Given the description of an element on the screen output the (x, y) to click on. 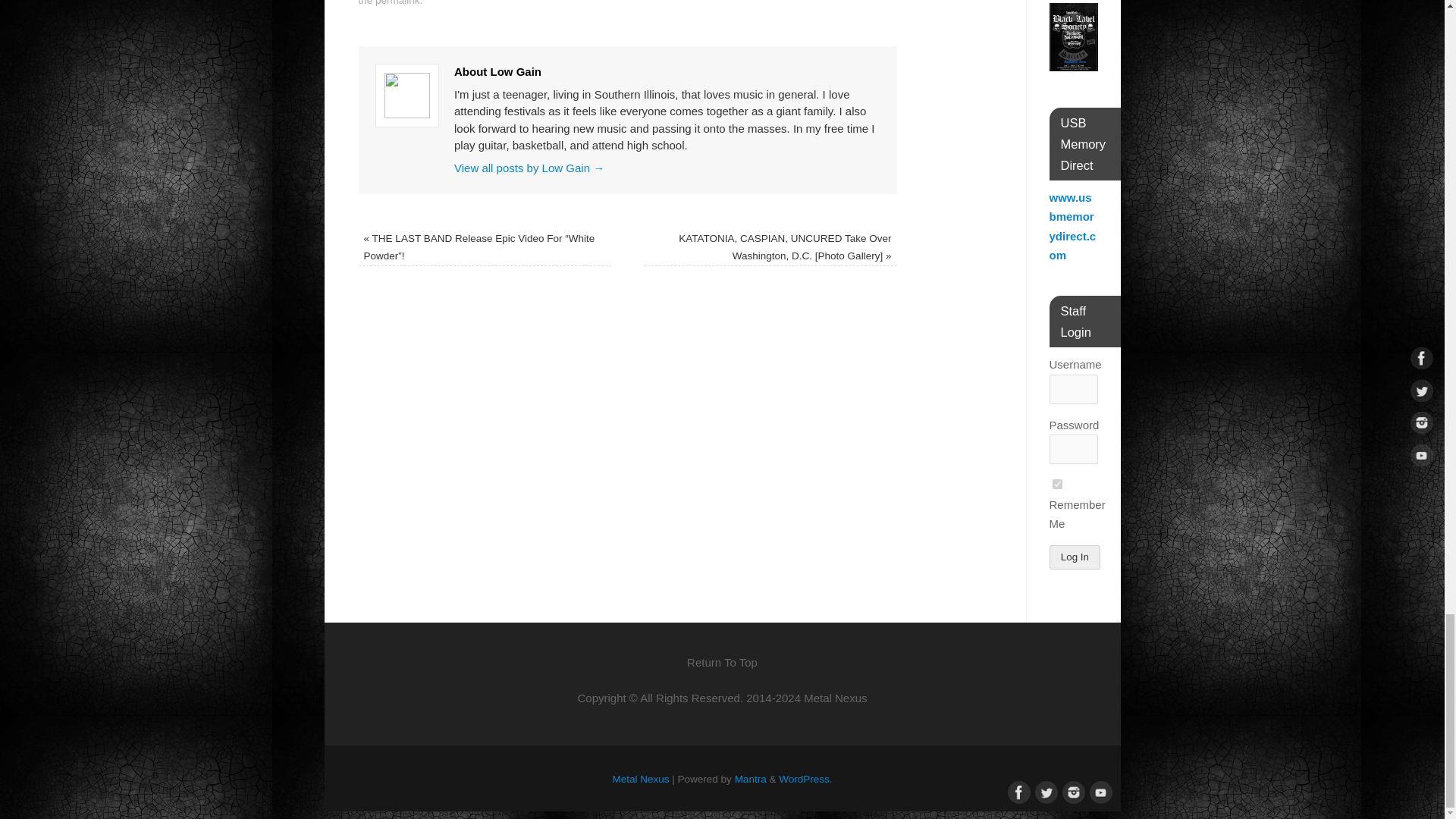
Mantra Theme by Cryout Creations (751, 778)
Metal Nexus (640, 778)
forever (1057, 483)
Log In (1074, 557)
permalink (397, 2)
